Given the description of an element on the screen output the (x, y) to click on. 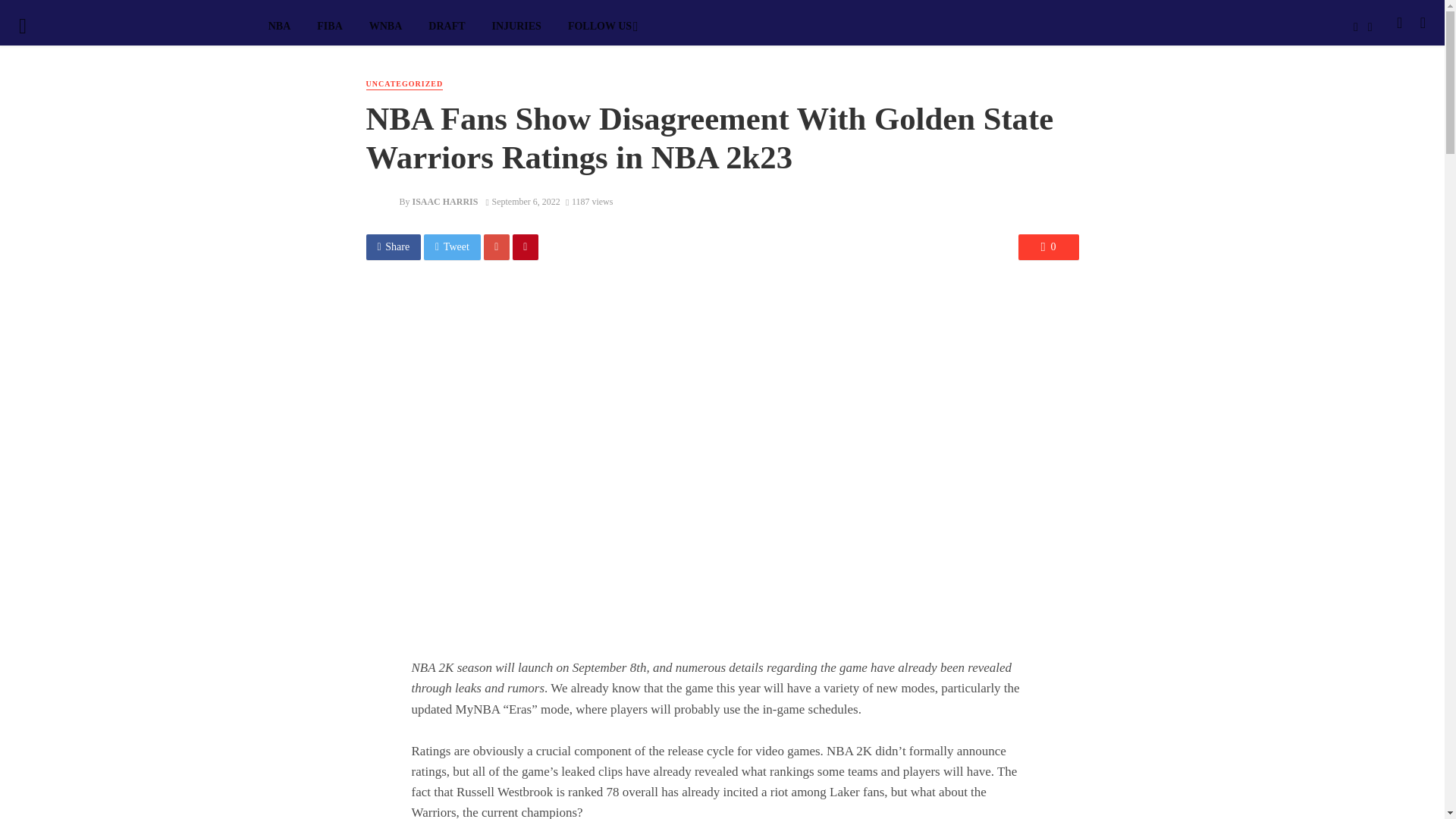
September 6, 2022 at 2:07 pm (523, 201)
INJURIES (516, 26)
0 (1047, 247)
0 Comments (1047, 247)
FOLLOW US (600, 26)
NBA (279, 26)
Tweet (451, 247)
DRAFT (446, 26)
UNCATEGORIZED (403, 84)
Posts by Isaac Harris (444, 201)
